Given the description of an element on the screen output the (x, y) to click on. 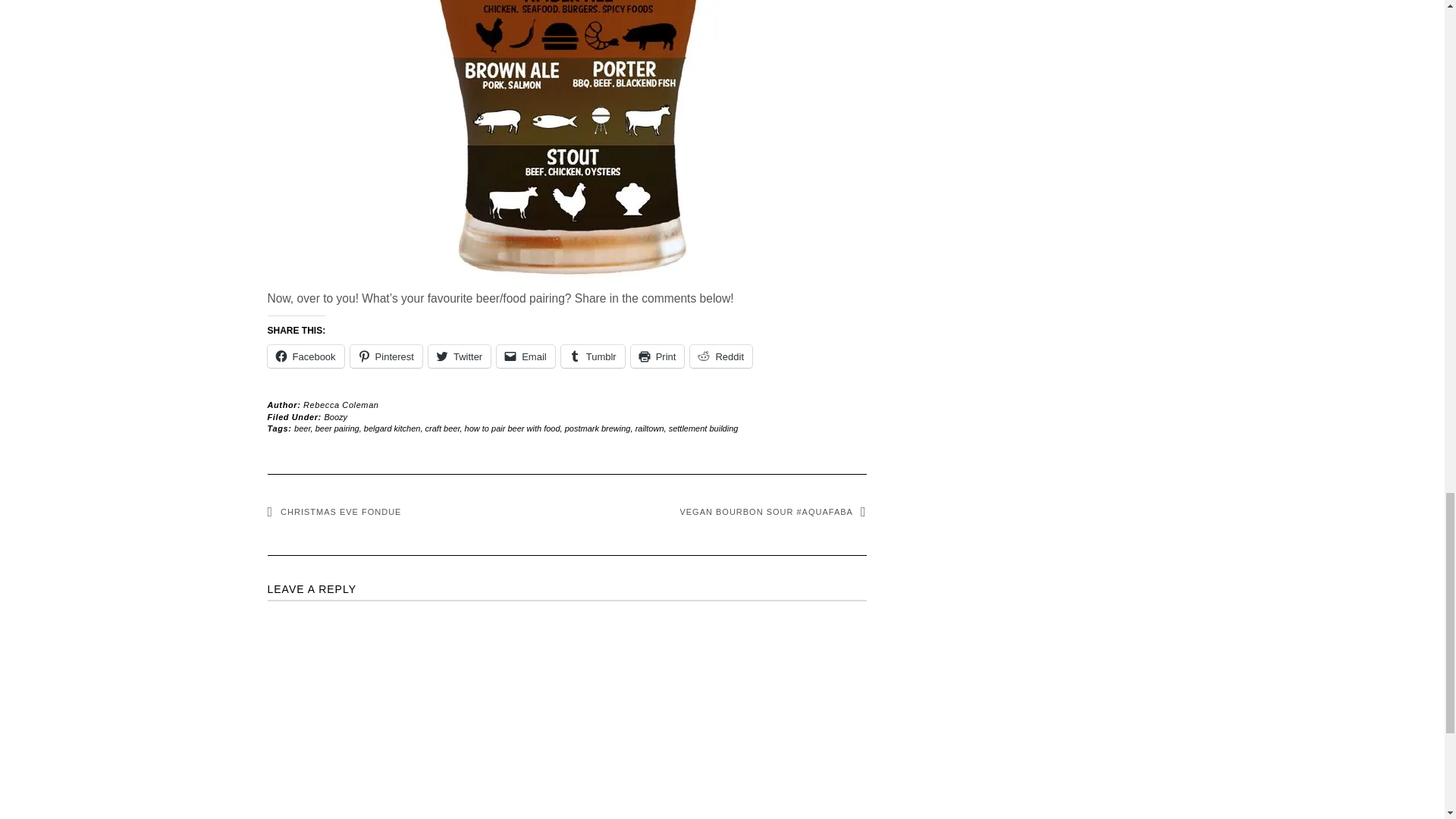
postmark brewing (597, 428)
Print (657, 355)
Click to email a link to a friend (525, 355)
Click to share on Reddit (721, 355)
Email (525, 355)
Click to print (657, 355)
Pinterest (386, 355)
Click to share on Twitter (459, 355)
Click to share on Pinterest (386, 355)
Facebook (304, 355)
